Given the description of an element on the screen output the (x, y) to click on. 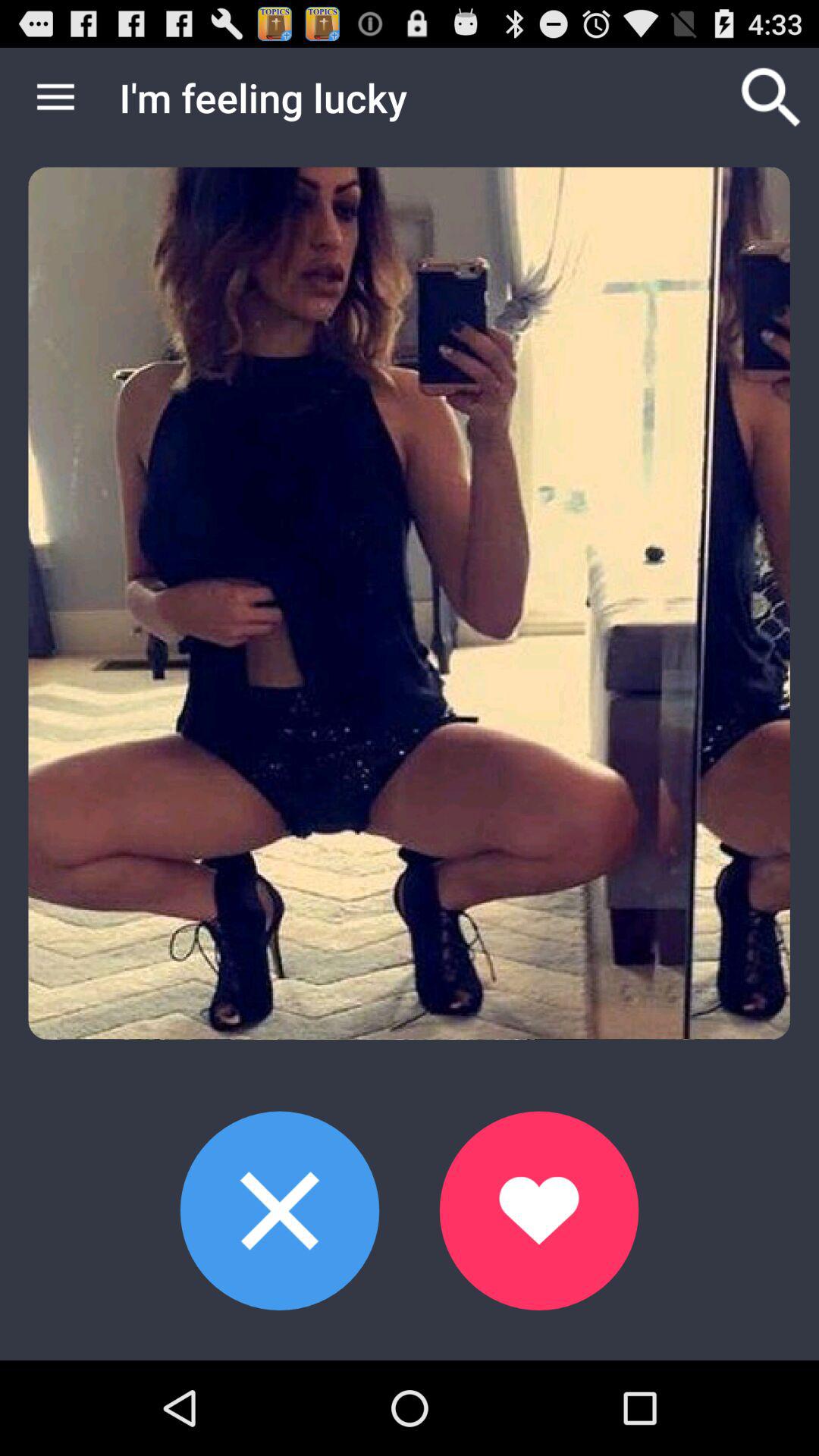
add favorite (538, 1210)
